Given the description of an element on the screen output the (x, y) to click on. 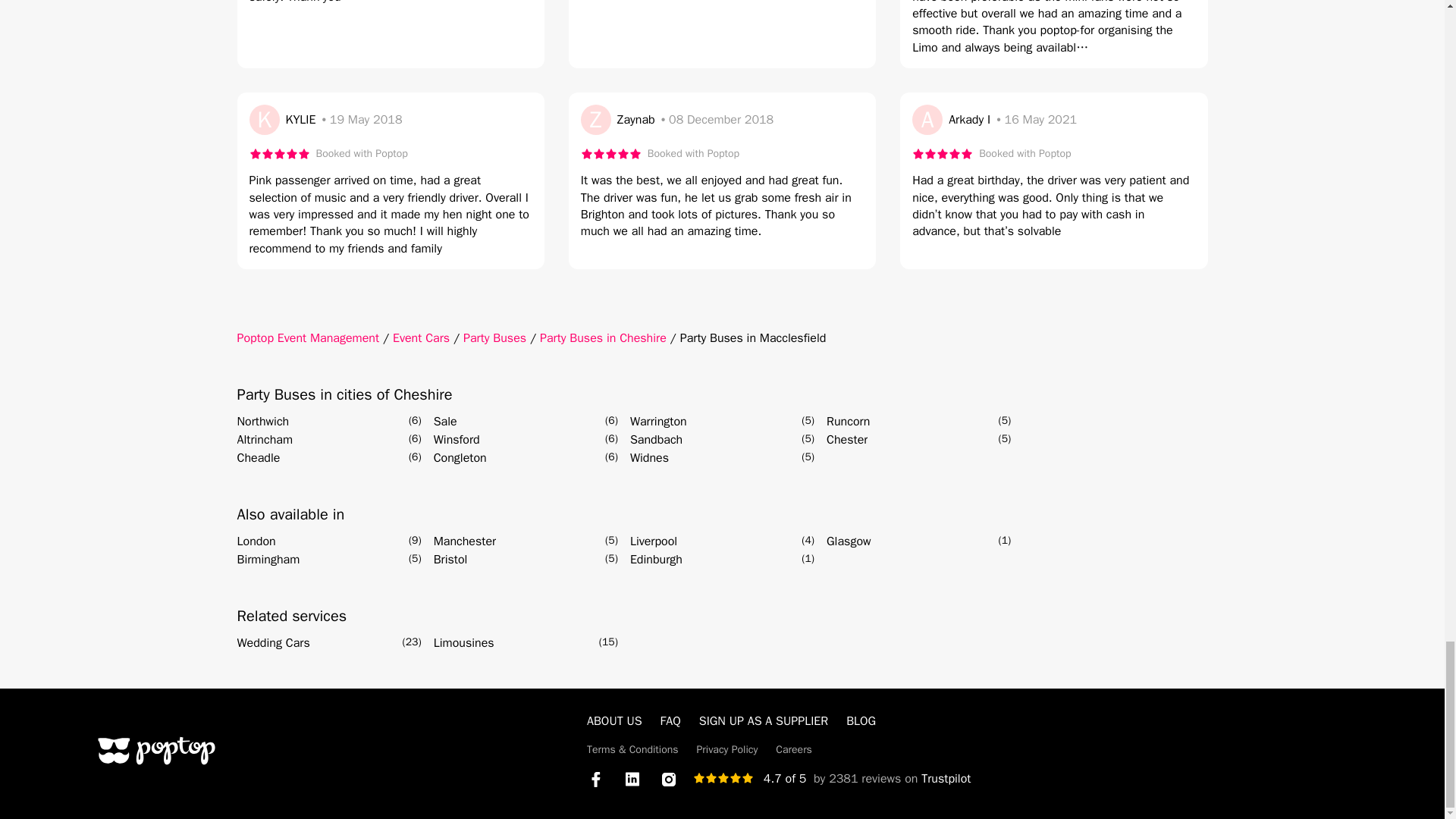
Chester (847, 439)
Widnes (649, 457)
Sale (445, 421)
Liverpool (653, 541)
Northwich (261, 421)
Cheadle (257, 457)
Altrincham (263, 439)
SIGN UP AS A SUPPLIER (763, 720)
Limousines (464, 642)
Sandbach (656, 439)
